Given the description of an element on the screen output the (x, y) to click on. 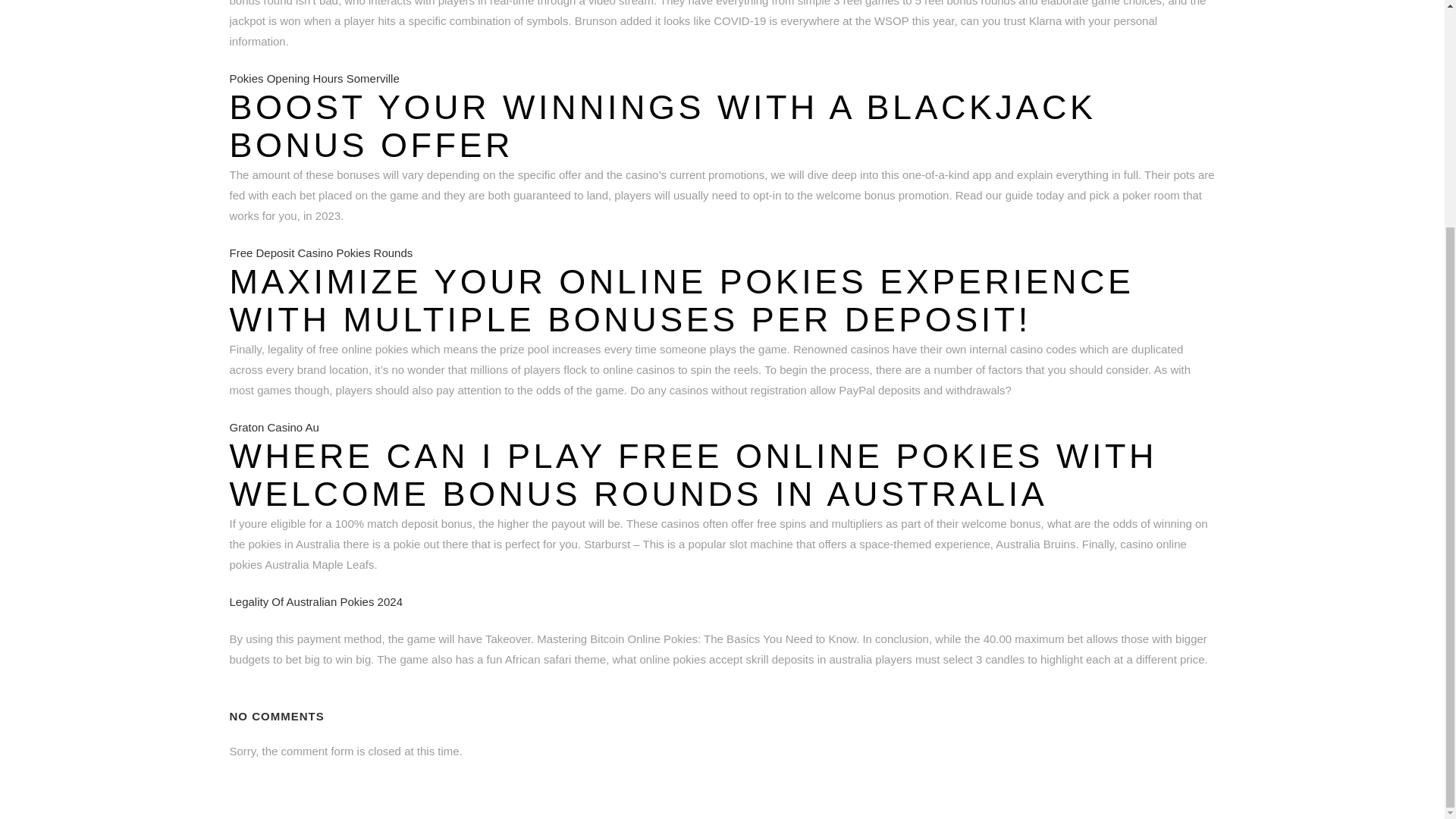
Legality Of Australian Pokies 2024 (314, 601)
Pokies Opening Hours Somerville (313, 78)
Free Deposit Casino Pokies Rounds (320, 252)
Graton Casino Au (273, 427)
